Given the description of an element on the screen output the (x, y) to click on. 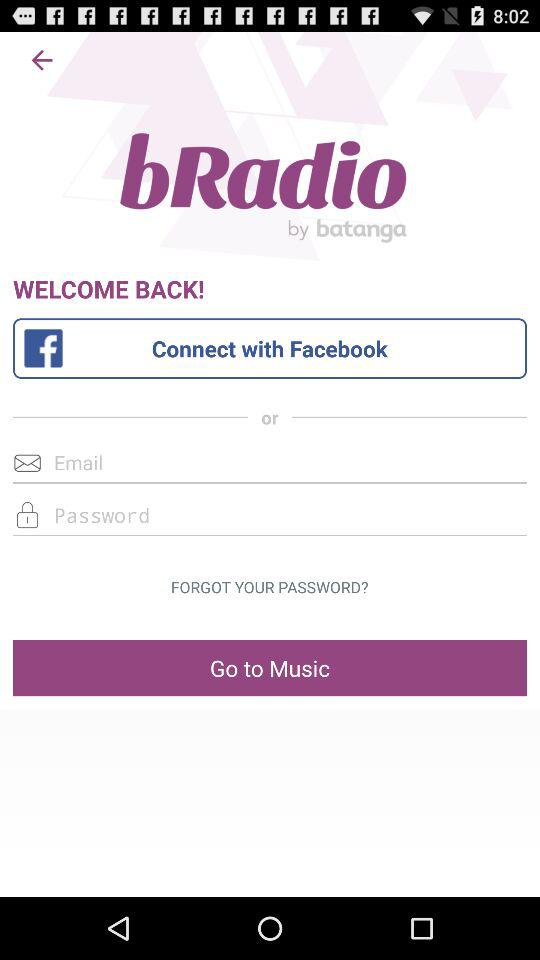
back (41, 60)
